Given the description of an element on the screen output the (x, y) to click on. 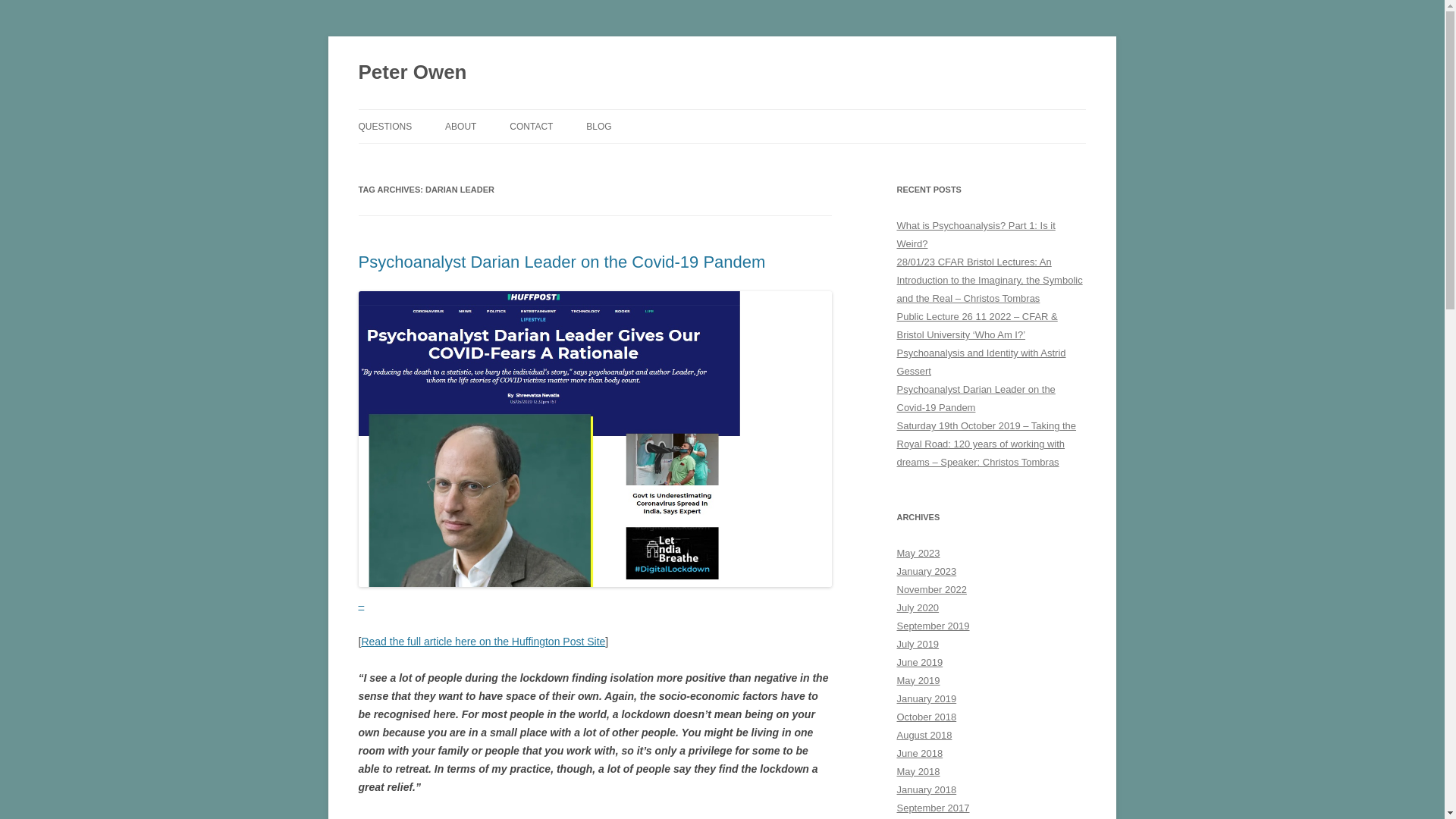
Psychoanalyst Darian Leader on the Covid-19 Pandem (561, 261)
psychotherapy (703, 818)
Peter Owen (411, 72)
talking treatment (775, 818)
Read the full article here on the Huffington Post Site (483, 641)
Darian Leader (498, 818)
mental health (564, 818)
ABOUT (460, 126)
psychoanalysis (631, 818)
